Given the description of an element on the screen output the (x, y) to click on. 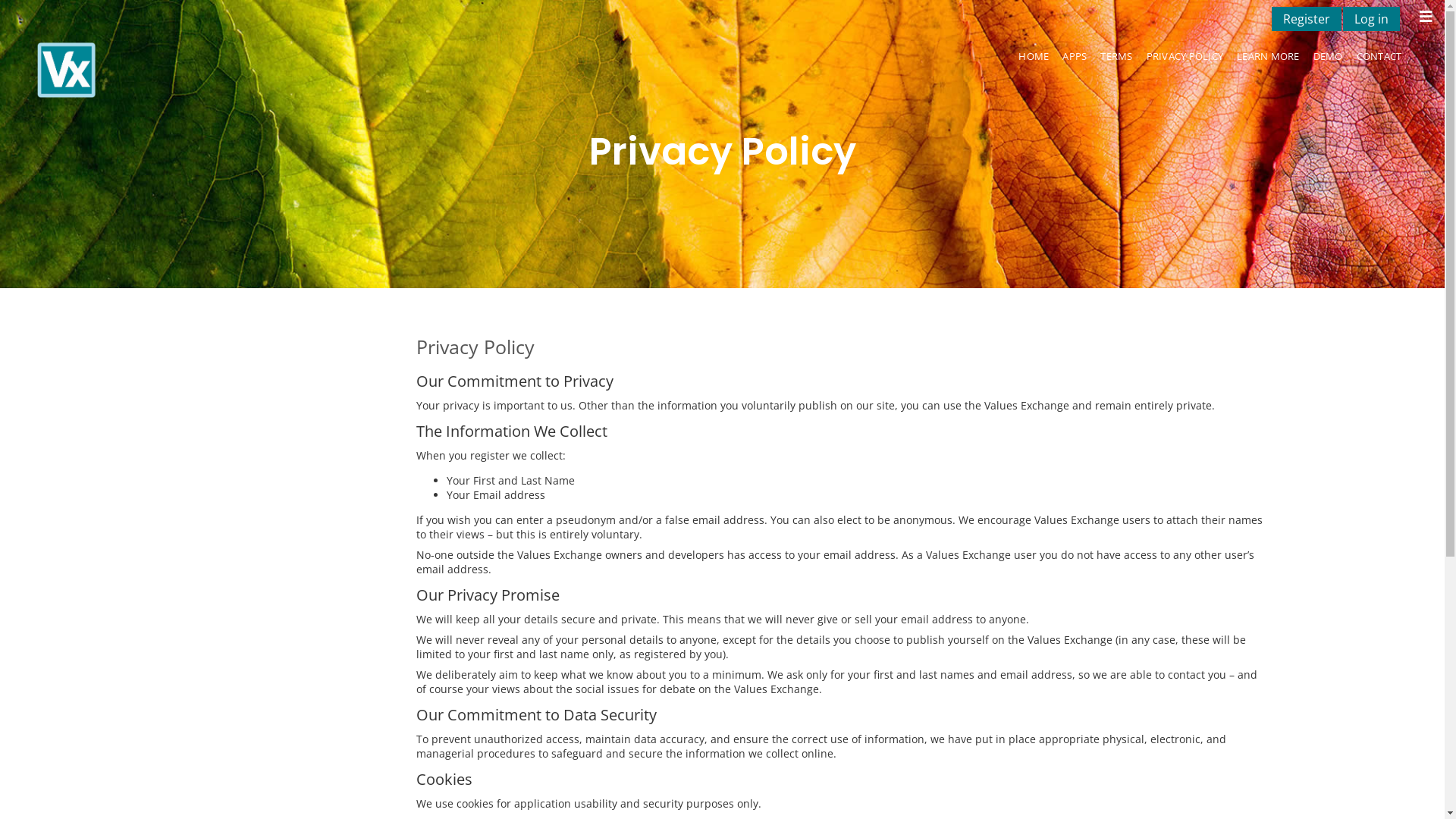
DEMO Element type: text (1327, 55)
PRIVACY POLICY Element type: text (1184, 55)
TERMS Element type: text (1116, 55)
HOME Element type: text (1033, 55)
APPS Element type: text (1074, 55)
Early Intervention Physiotherapy Element type: hover (270, 69)
Register Element type: text (1306, 18)
Log in Element type: text (1371, 18)
CONTACT Element type: text (1378, 55)
LEARN MORE Element type: text (1268, 55)
